Given the description of an element on the screen output the (x, y) to click on. 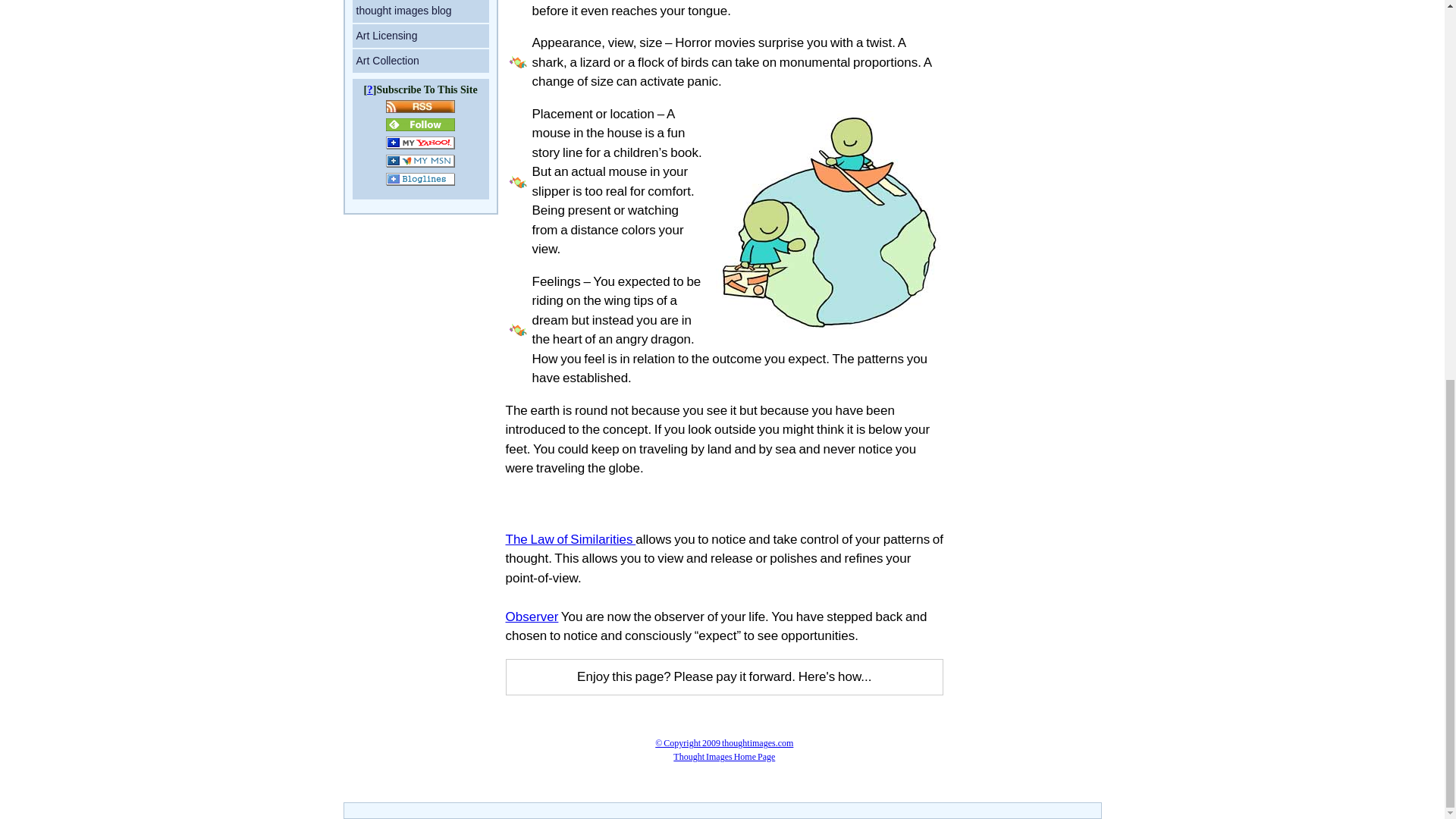
The Law of Similarities (569, 539)
Observer (531, 616)
thought images blog (419, 11)
Art Collection (419, 60)
Art Licensing (419, 35)
